Given the description of an element on the screen output the (x, y) to click on. 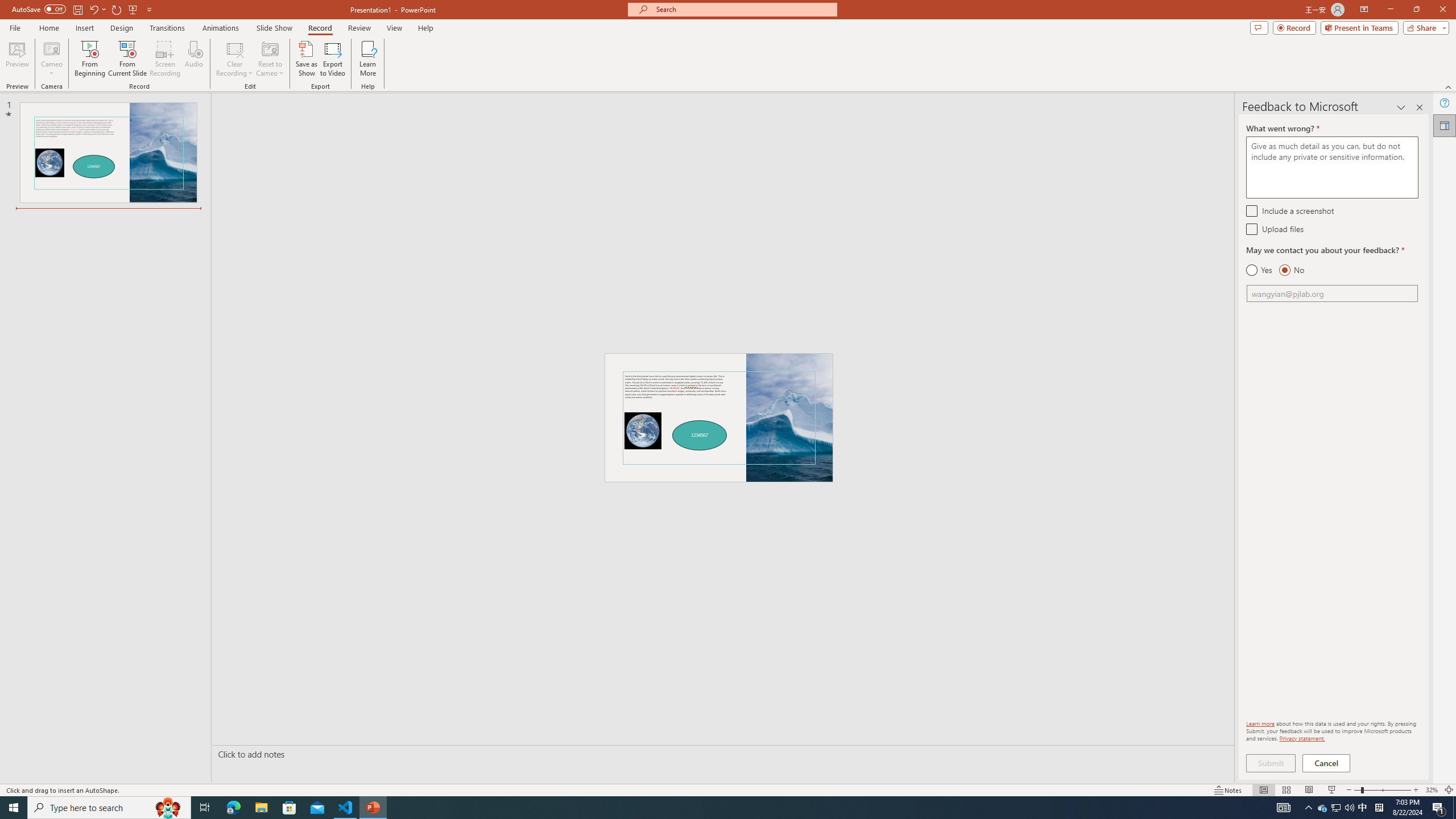
Comments (1259, 27)
Quick Access Toolbar (82, 9)
Review (359, 28)
No (1291, 269)
Restore Down (1416, 9)
System (6, 6)
Include a screenshot (1251, 210)
Zoom Out (1357, 790)
Upload files (1251, 228)
Minimize (1390, 9)
Save as Show (306, 58)
Close (1442, 9)
Submit (1270, 763)
